Given the description of an element on the screen output the (x, y) to click on. 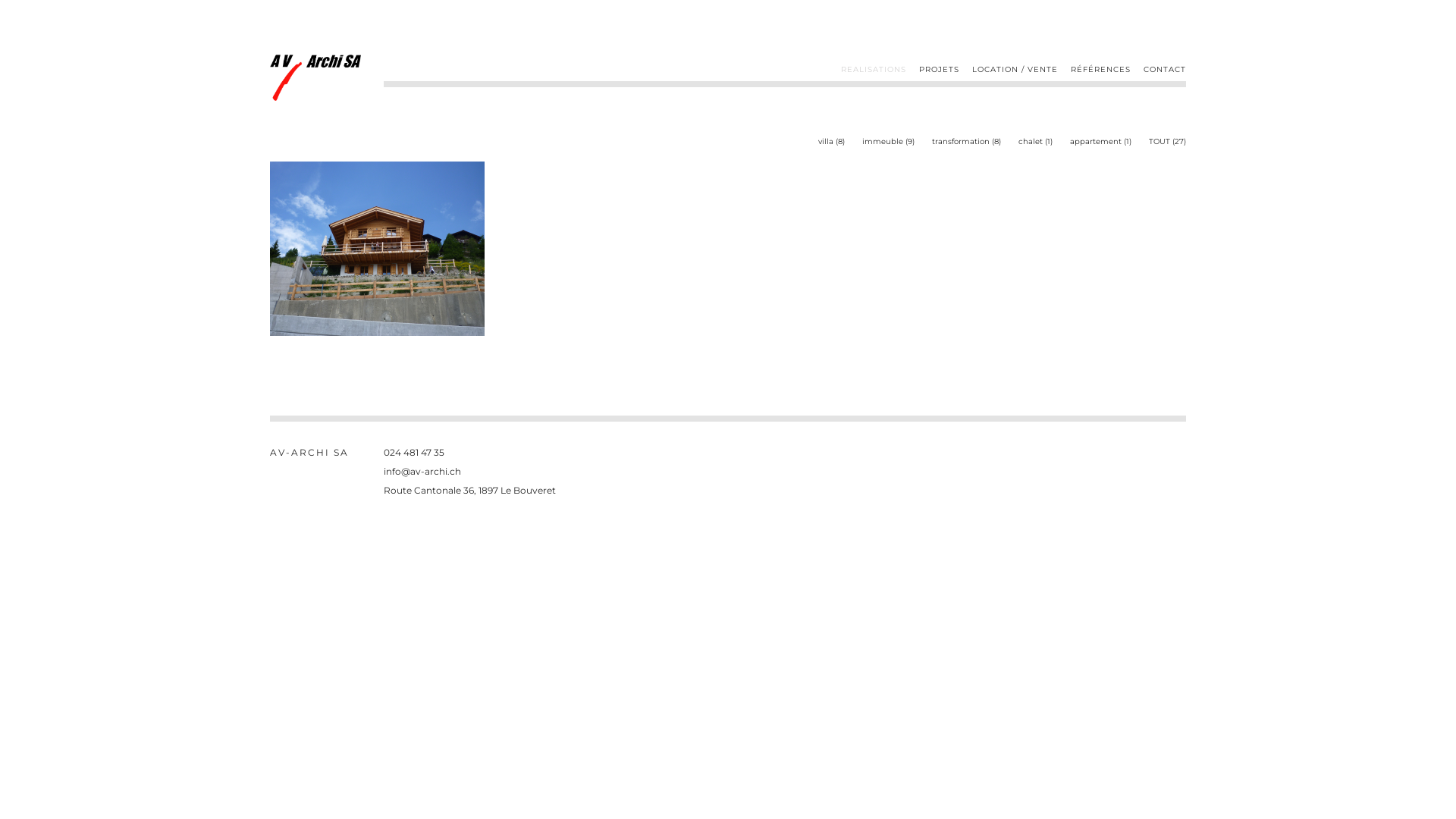
immeuble (9) Element type: text (888, 141)
villa (8) Element type: text (831, 141)
transformation (8) Element type: text (966, 141)
appartement (1) Element type: text (1100, 141)
admin Element type: text (1171, 452)
chalet (1) Element type: text (1035, 141)
TOUT (27) Element type: text (1167, 141)
